Given the description of an element on the screen output the (x, y) to click on. 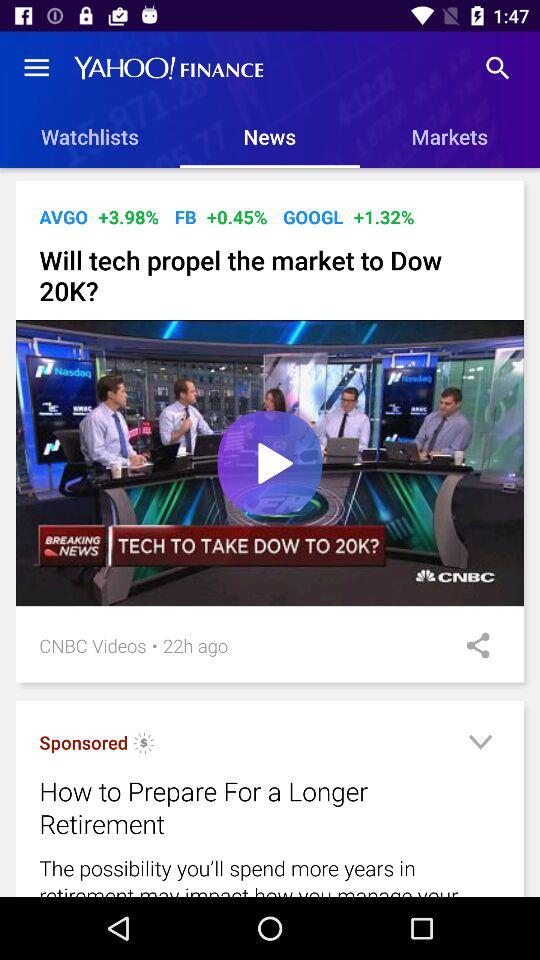
press item above will tech propel icon (236, 216)
